Given the description of an element on the screen output the (x, y) to click on. 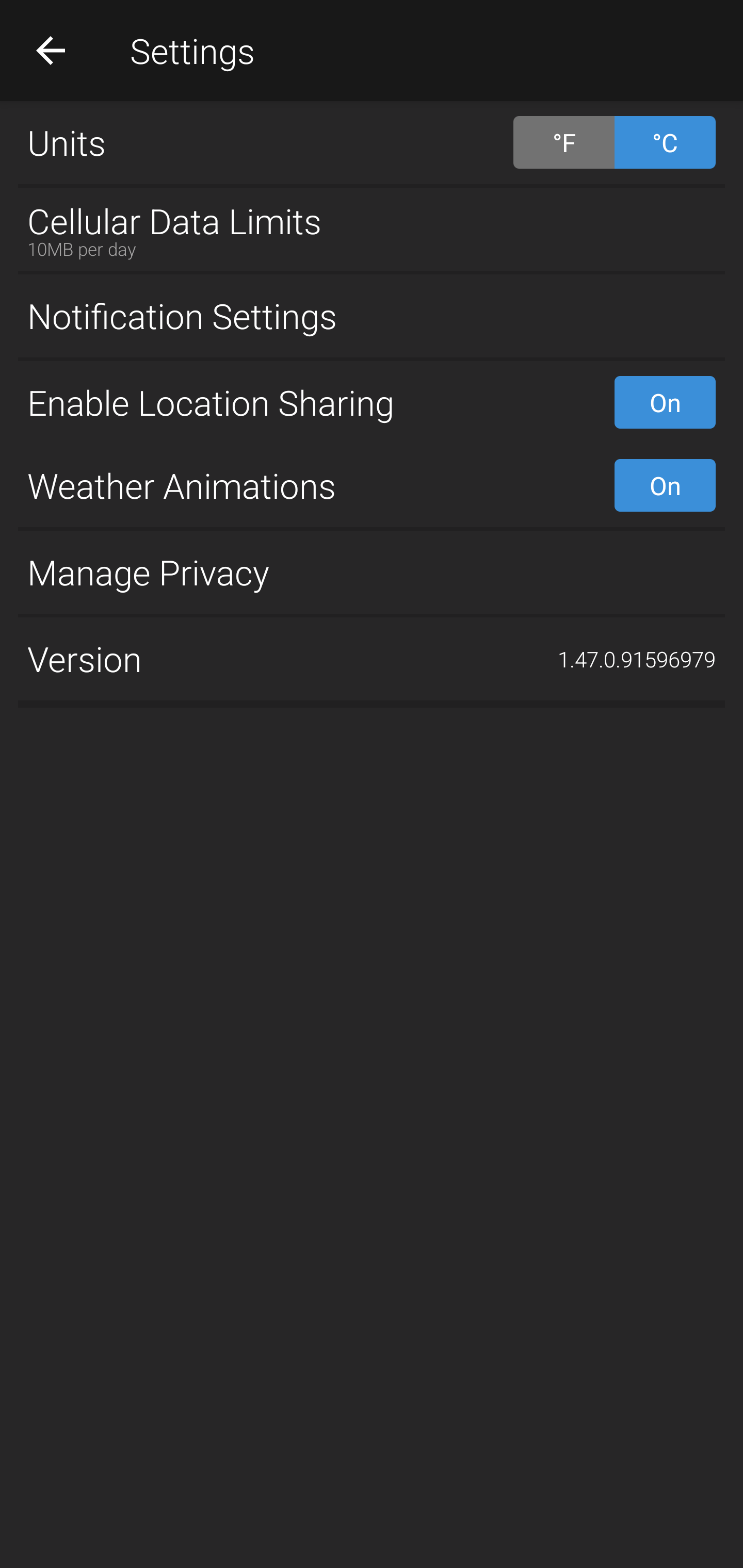
Navigate up (50, 50)
°F (563, 142)
°C (664, 142)
Cellular Data Limits 10MB per day (371, 229)
Notification Settings (371, 315)
Enable Location Sharing On (371, 401)
On (664, 402)
Weather Animations On (371, 484)
On (664, 485)
Manage Privacy (371, 571)
1.47.0.91596979 (636, 658)
